Given the description of an element on the screen output the (x, y) to click on. 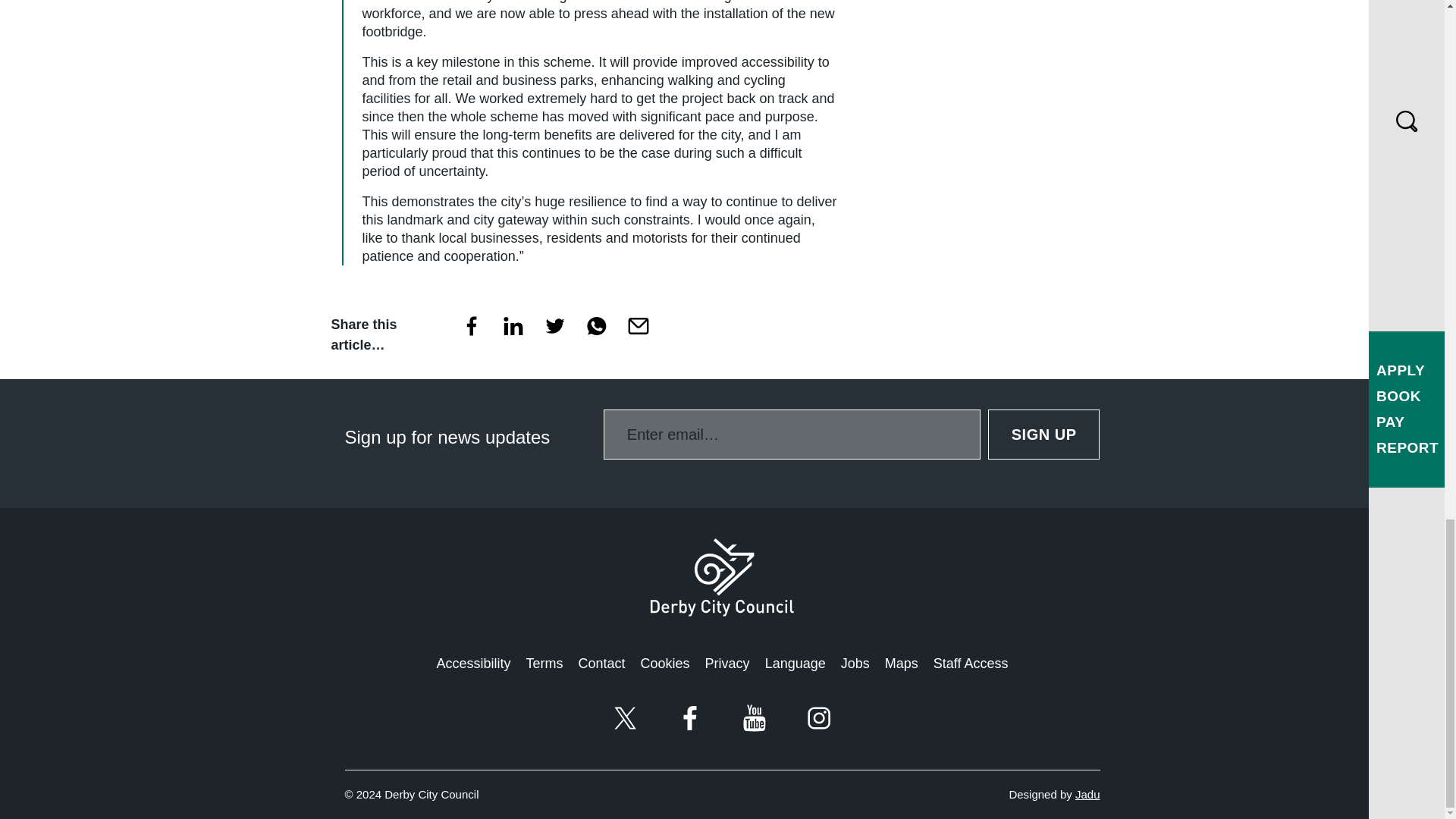
FB (470, 329)
LI (513, 329)
Sign up (1044, 434)
Derby City Council logo (721, 577)
